Given the description of an element on the screen output the (x, y) to click on. 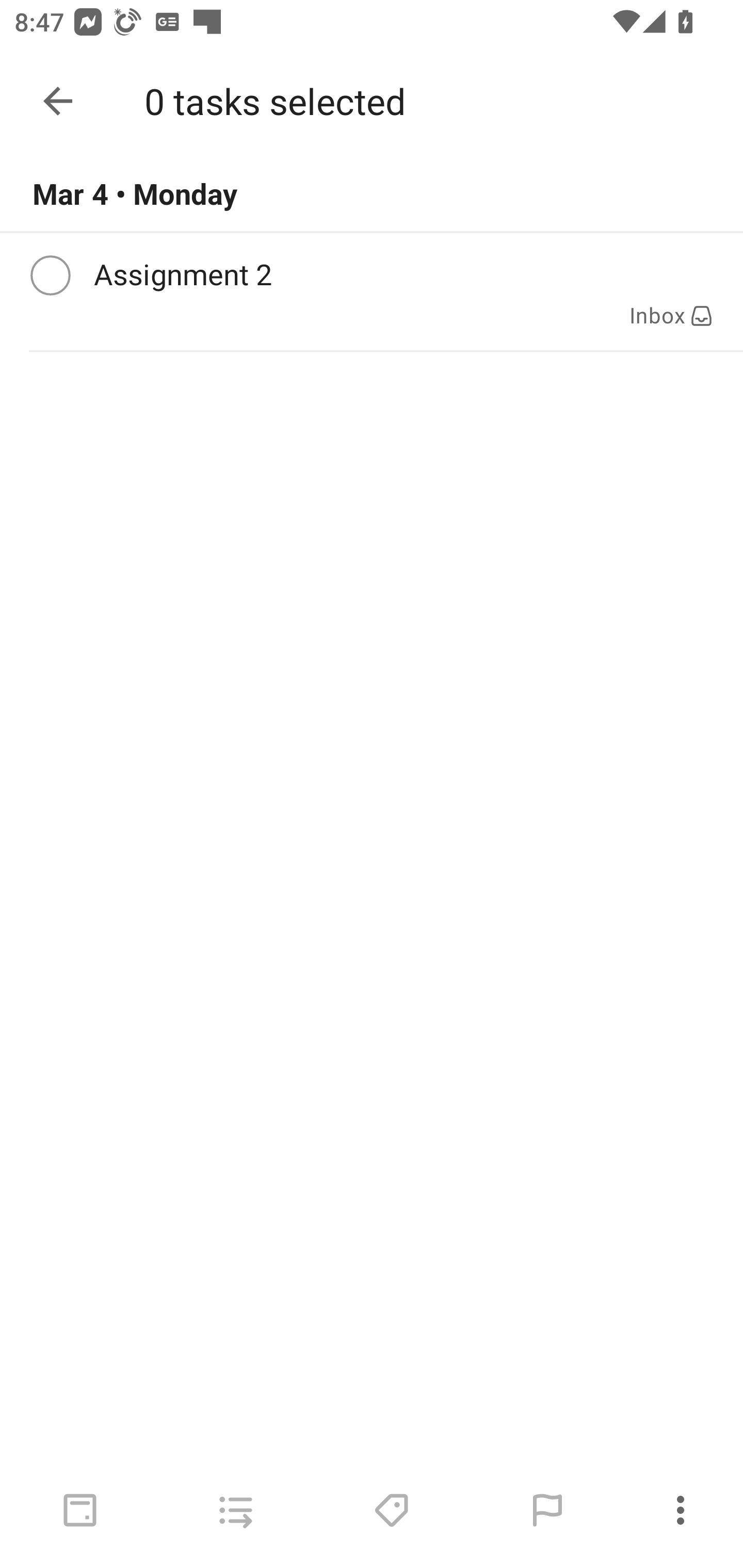
Done (57, 100)
Today More options (371, 100)
Mar 4 • Monday (371, 194)
Complete Assignment 2 Inbox (371, 291)
Complete (50, 275)
Schedule (80, 1510)
Move (235, 1510)
Labels (391, 1510)
Set priority (547, 1510)
More options (683, 1510)
